Given the description of an element on the screen output the (x, y) to click on. 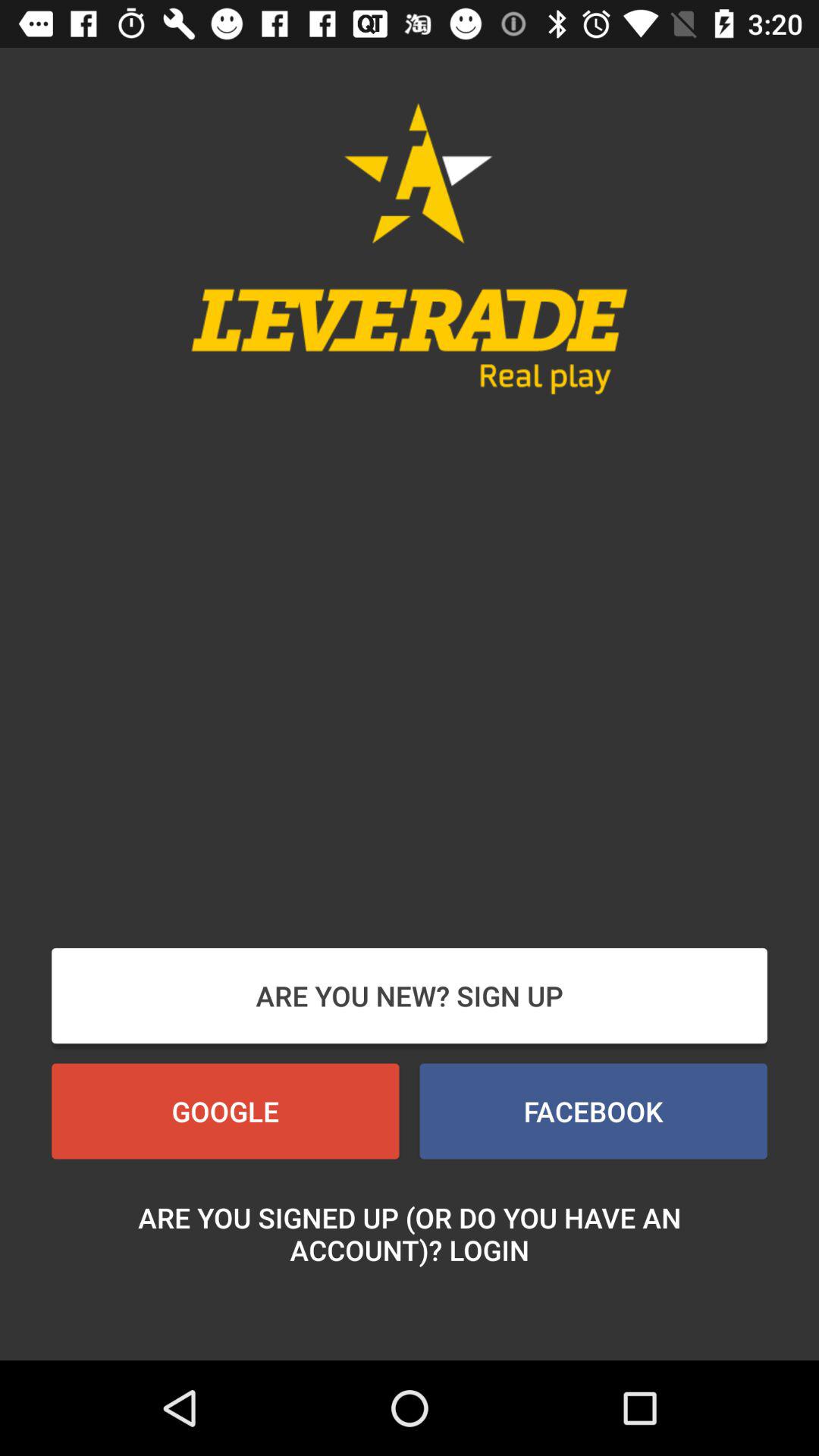
launch the facebook (593, 1111)
